Given the description of an element on the screen output the (x, y) to click on. 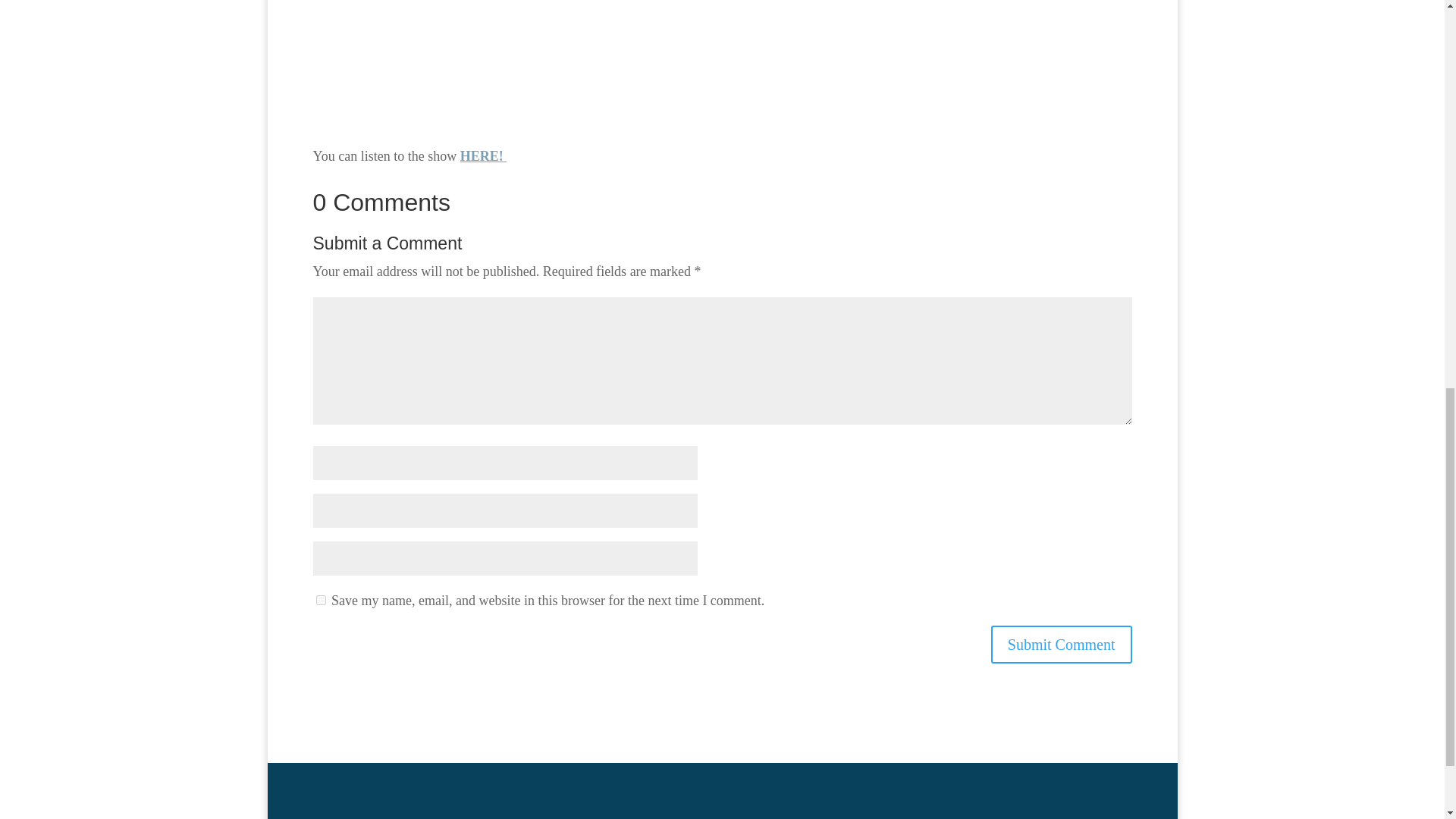
yes (319, 600)
